Given the description of an element on the screen output the (x, y) to click on. 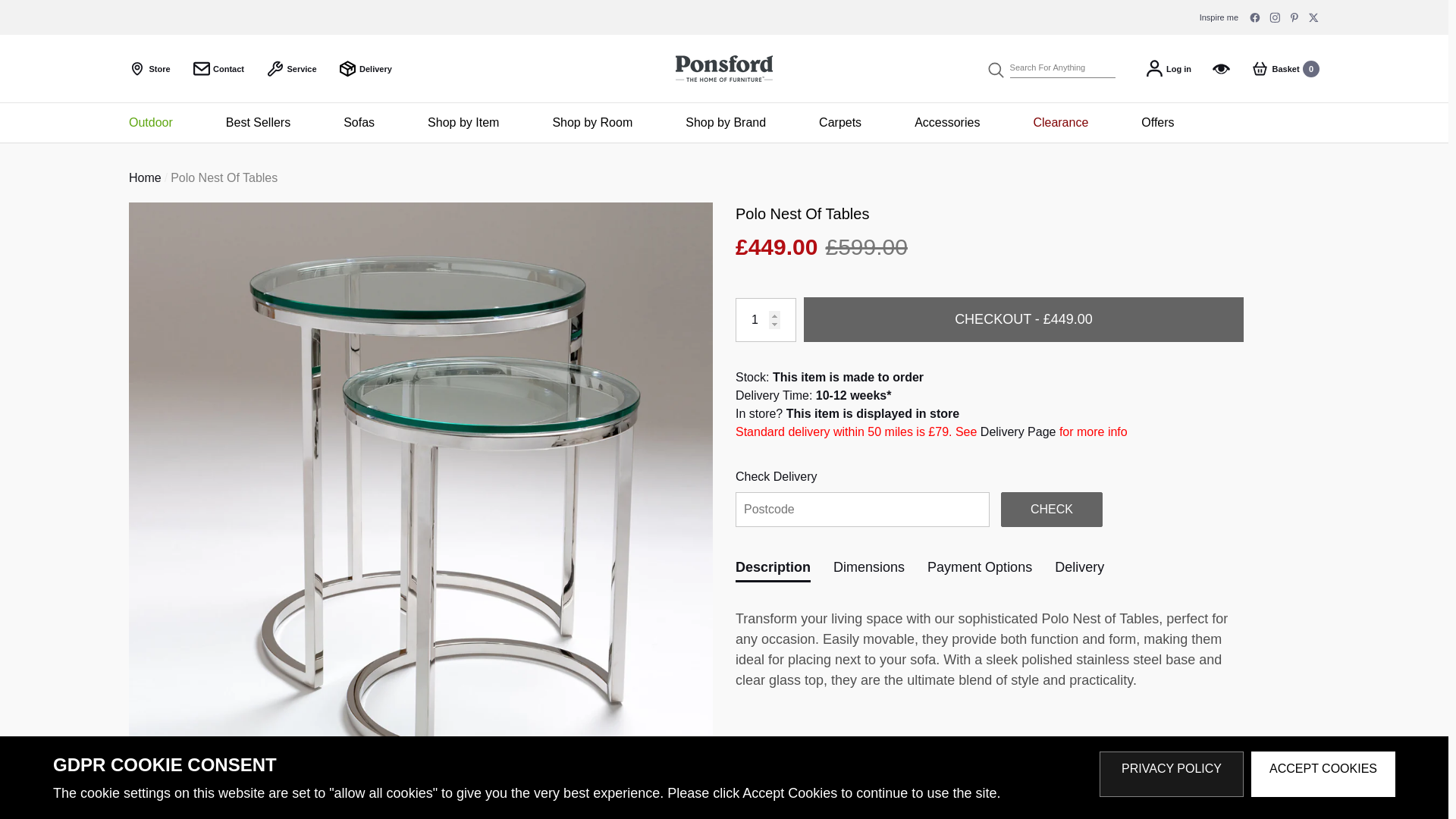
Home (145, 177)
Twitter (218, 68)
Instagram (1313, 17)
Sofas (365, 68)
Best Sellers (1274, 17)
1 (359, 122)
Shop by Brand (258, 122)
Outdoor (765, 320)
Polo Nest of Tables (724, 122)
Polo Nest of Tables (158, 122)
